Given the description of an element on the screen output the (x, y) to click on. 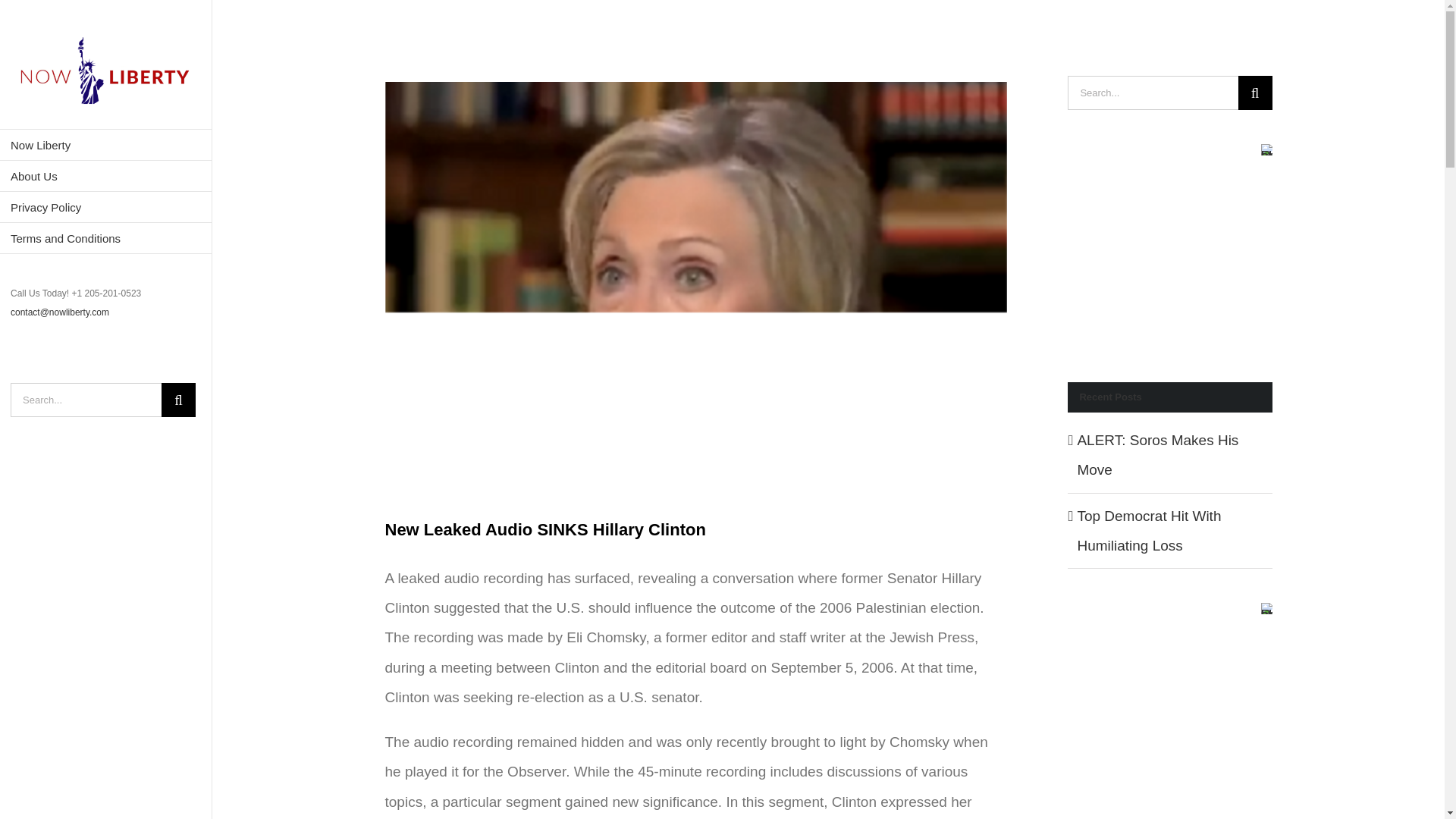
About Us (106, 175)
Terms and Conditions (106, 237)
Top Democrat Hit With Humiliating Loss (1149, 530)
Now Liberty (106, 144)
Privacy Policy (106, 206)
ALERT: Soros Makes His Move (1158, 454)
